Given the description of an element on the screen output the (x, y) to click on. 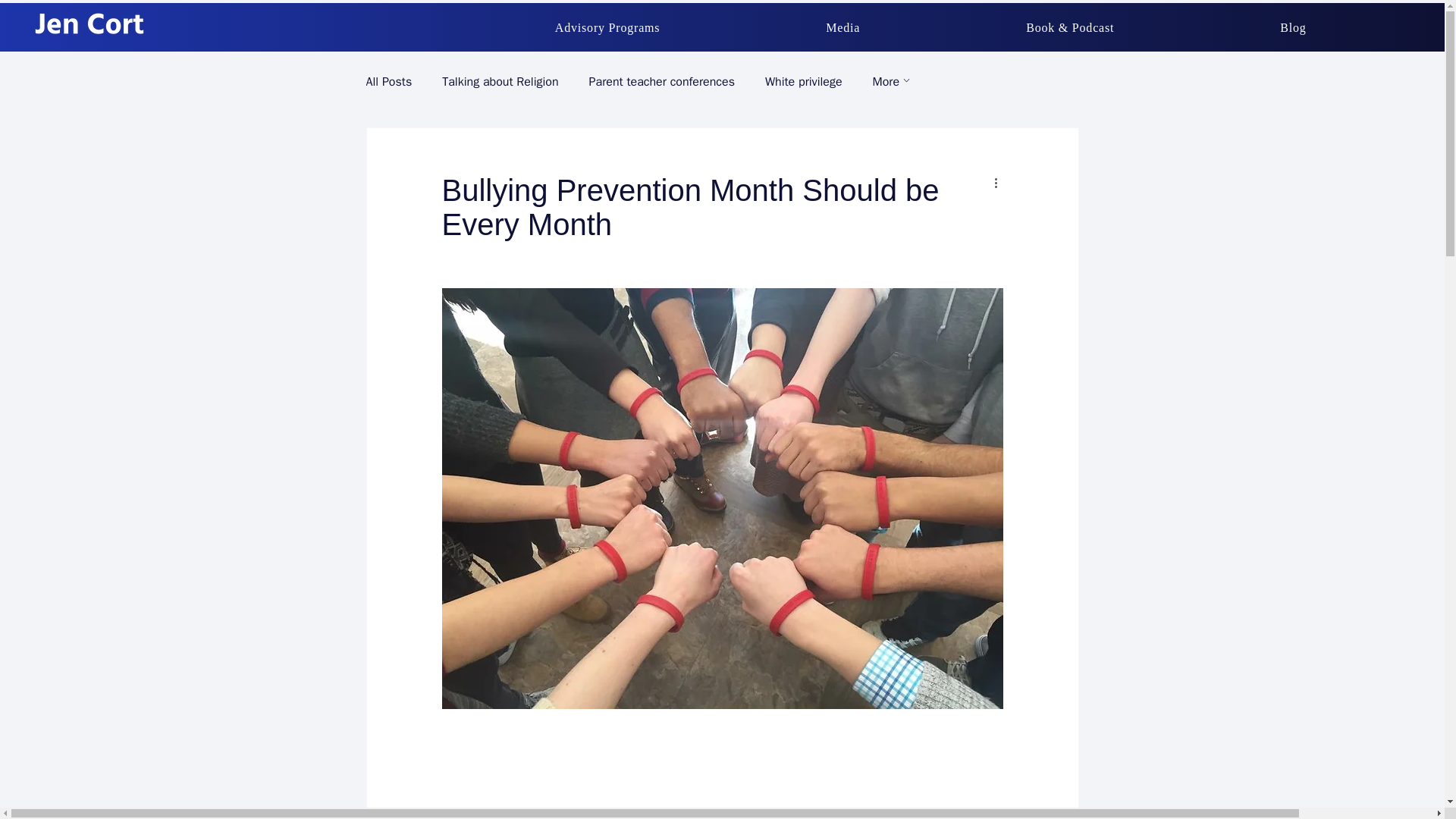
Blog (1292, 28)
All Posts (388, 82)
Talking about Religion (499, 82)
Advisory Programs (607, 28)
White privilege (804, 82)
Media (843, 28)
Parent teacher conferences (662, 82)
